Given the description of an element on the screen output the (x, y) to click on. 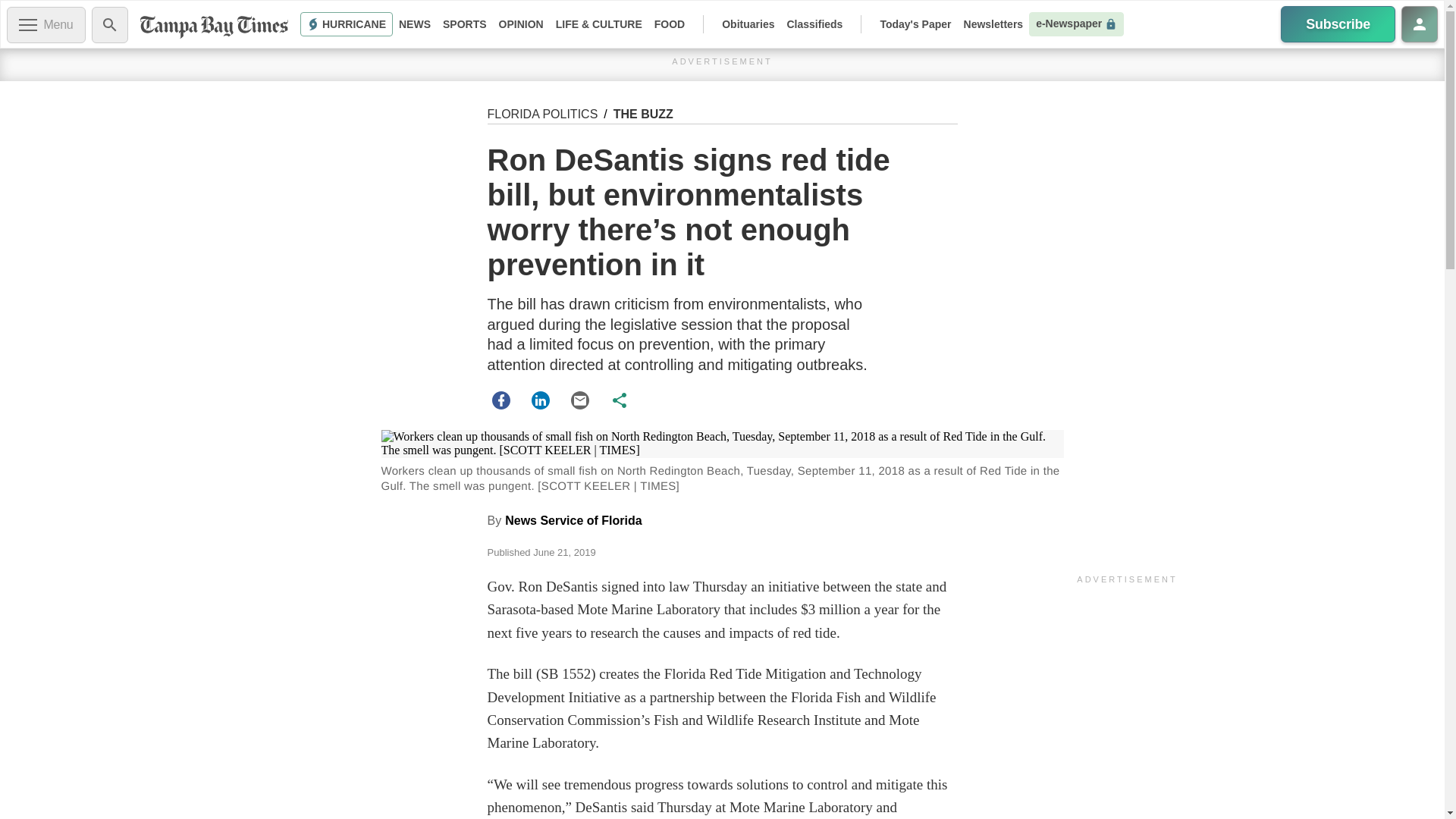
2019-06-21T12:22:46.345Z (563, 552)
Menu (46, 24)
